Given the description of an element on the screen output the (x, y) to click on. 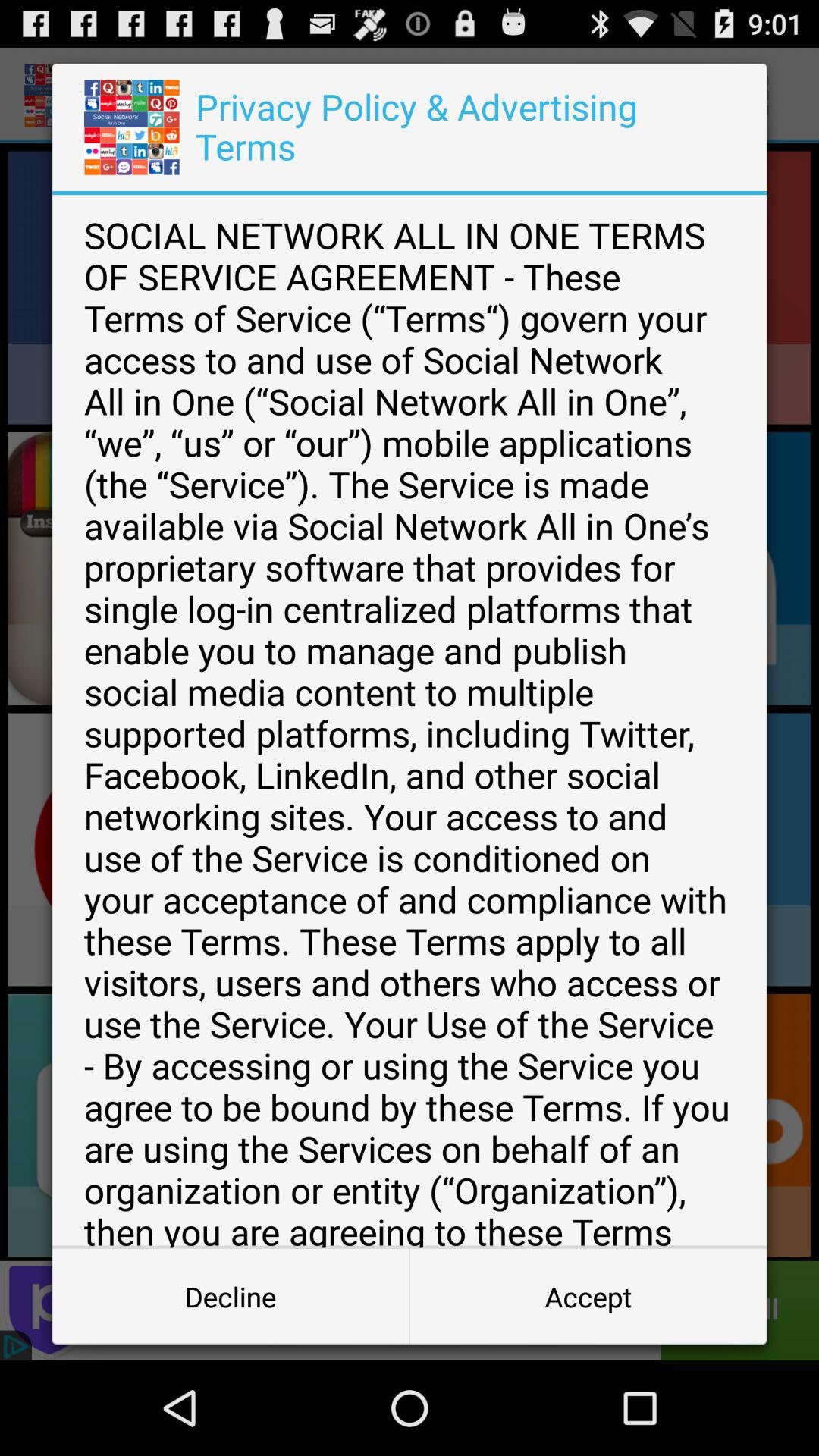
jump to the accept item (588, 1296)
